Given the description of an element on the screen output the (x, y) to click on. 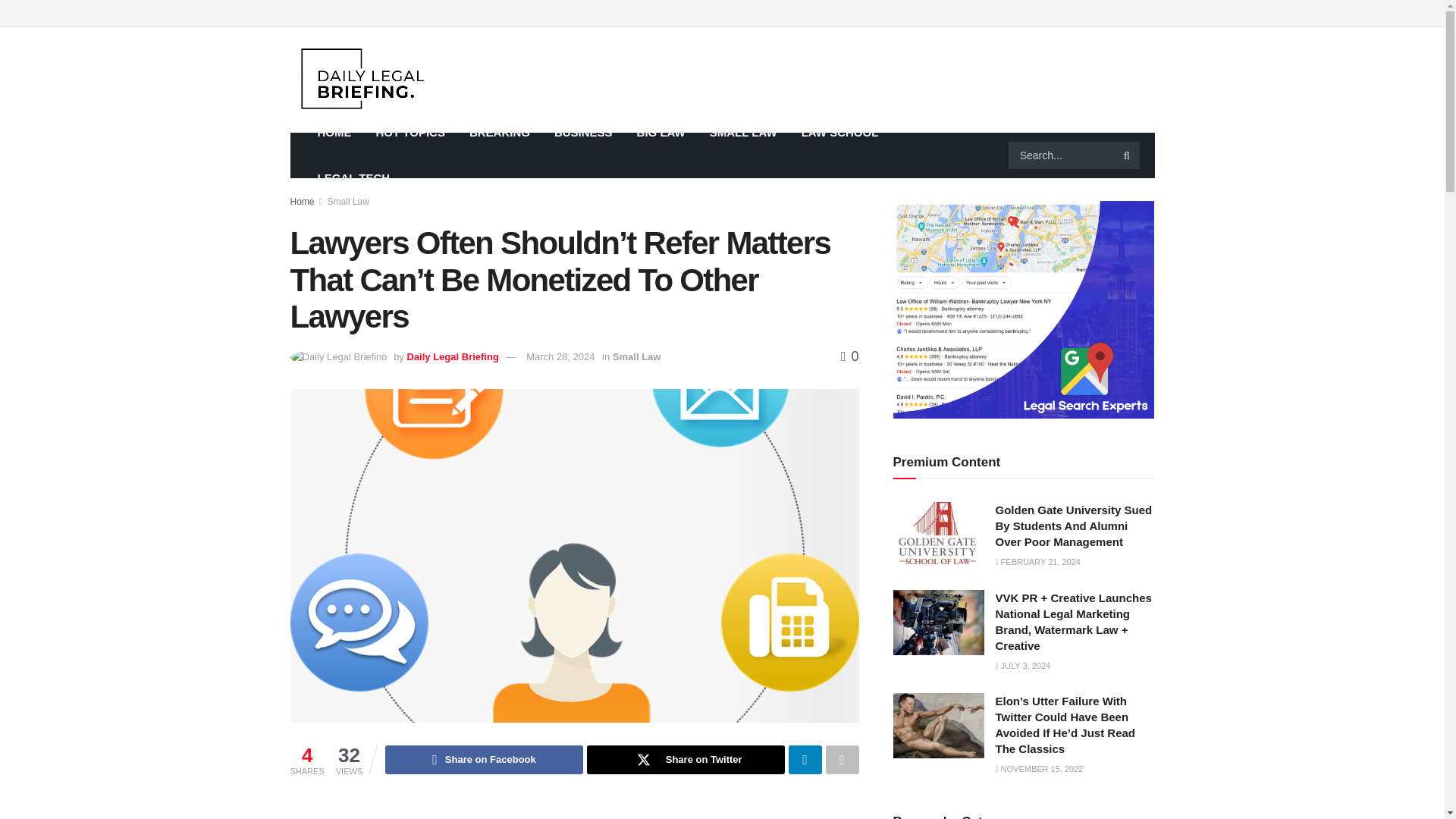
March 28, 2024 (559, 356)
HOME (333, 132)
BUSINESS (582, 132)
Daily Legal Briefing (451, 356)
0 (850, 355)
LEGAL TECH (352, 177)
Home (301, 201)
Small Law (348, 201)
HOT TOPICS (410, 132)
Small Law (636, 356)
Share on Facebook (484, 759)
Share on Twitter (685, 759)
BREAKING (499, 132)
LAW SCHOOL (840, 132)
SMALL LAW (743, 132)
